Given the description of an element on the screen output the (x, y) to click on. 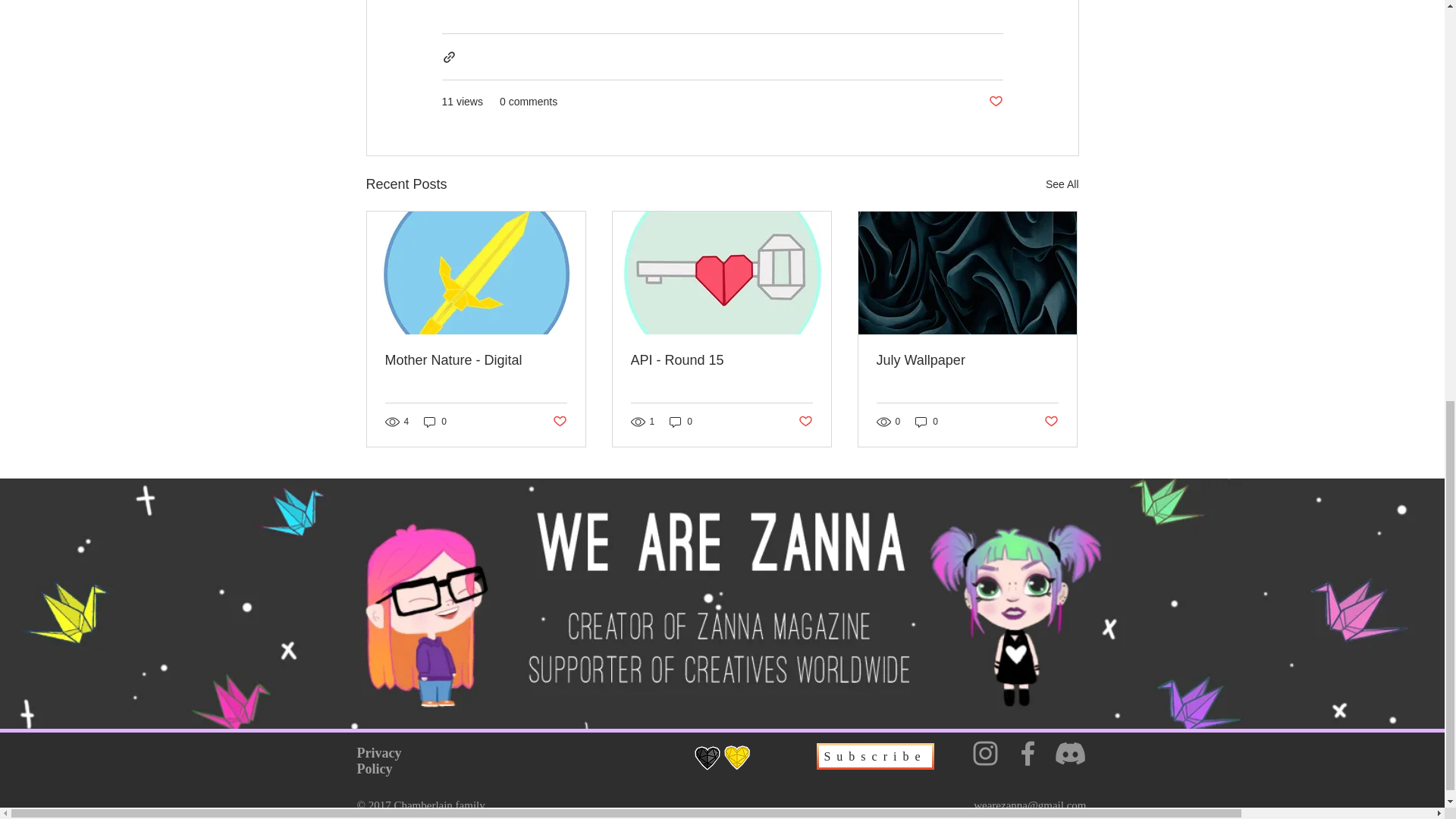
See All (1061, 184)
Post not marked as liked (995, 101)
Mother Nature - Digital (476, 360)
